Given the description of an element on the screen output the (x, y) to click on. 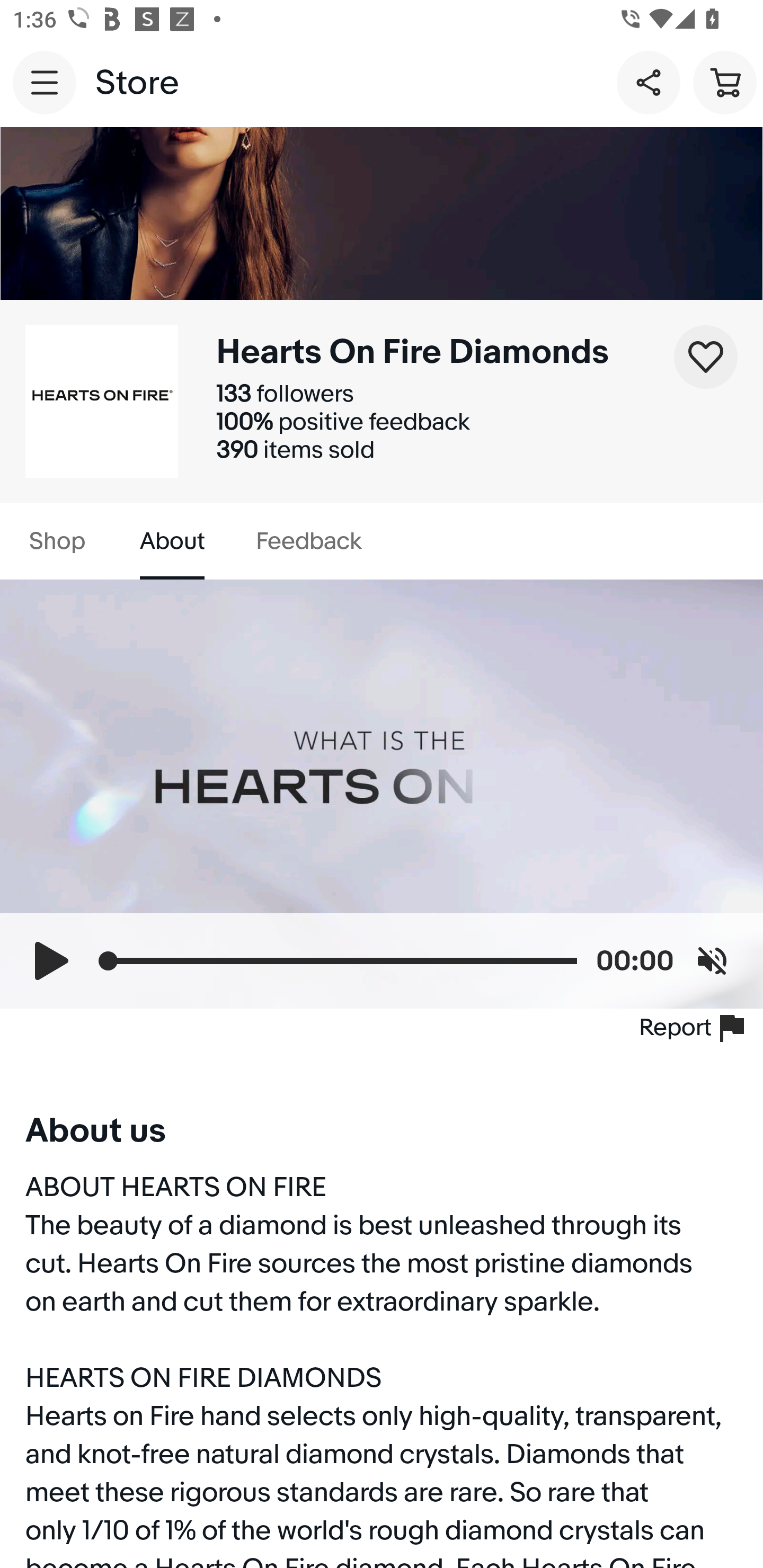
Main navigation, open (44, 82)
Share this page (648, 81)
Cart button shopping cart (724, 81)
Save this seller hearts_on_fire (705, 356)
Shop (57, 541)
Feedback (308, 541)
Play (50, 960)
unmute audio (711, 960)
Report (694, 1027)
